Given the description of an element on the screen output the (x, y) to click on. 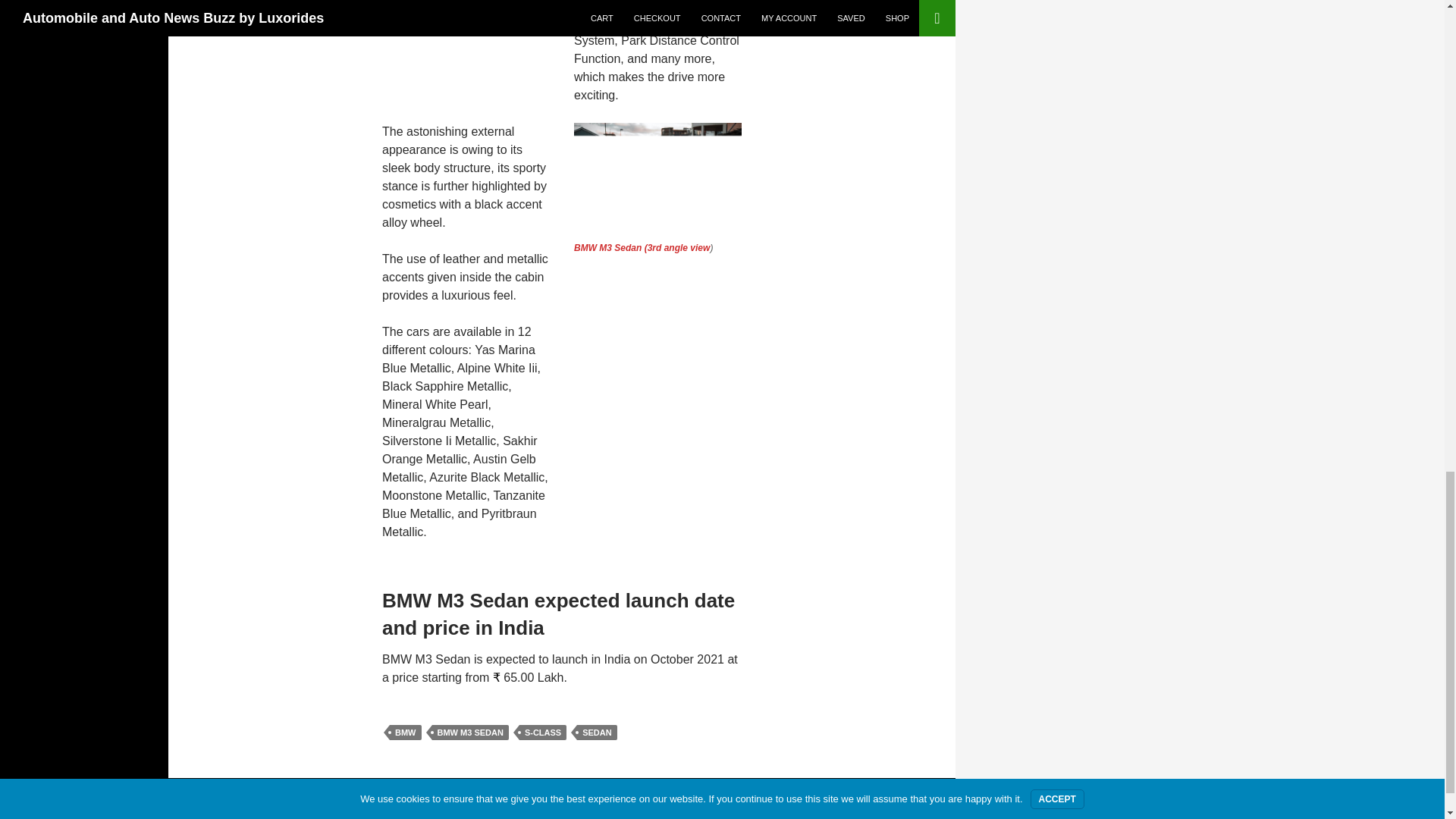
SEDAN (596, 732)
S-CLASS (542, 732)
BMW (406, 732)
The future of Luxury, BMW M3 Sedan 3 (657, 178)
BMW M3 SEDAN (470, 732)
Proudly powered by WordPress (87, 796)
